Given the description of an element on the screen output the (x, y) to click on. 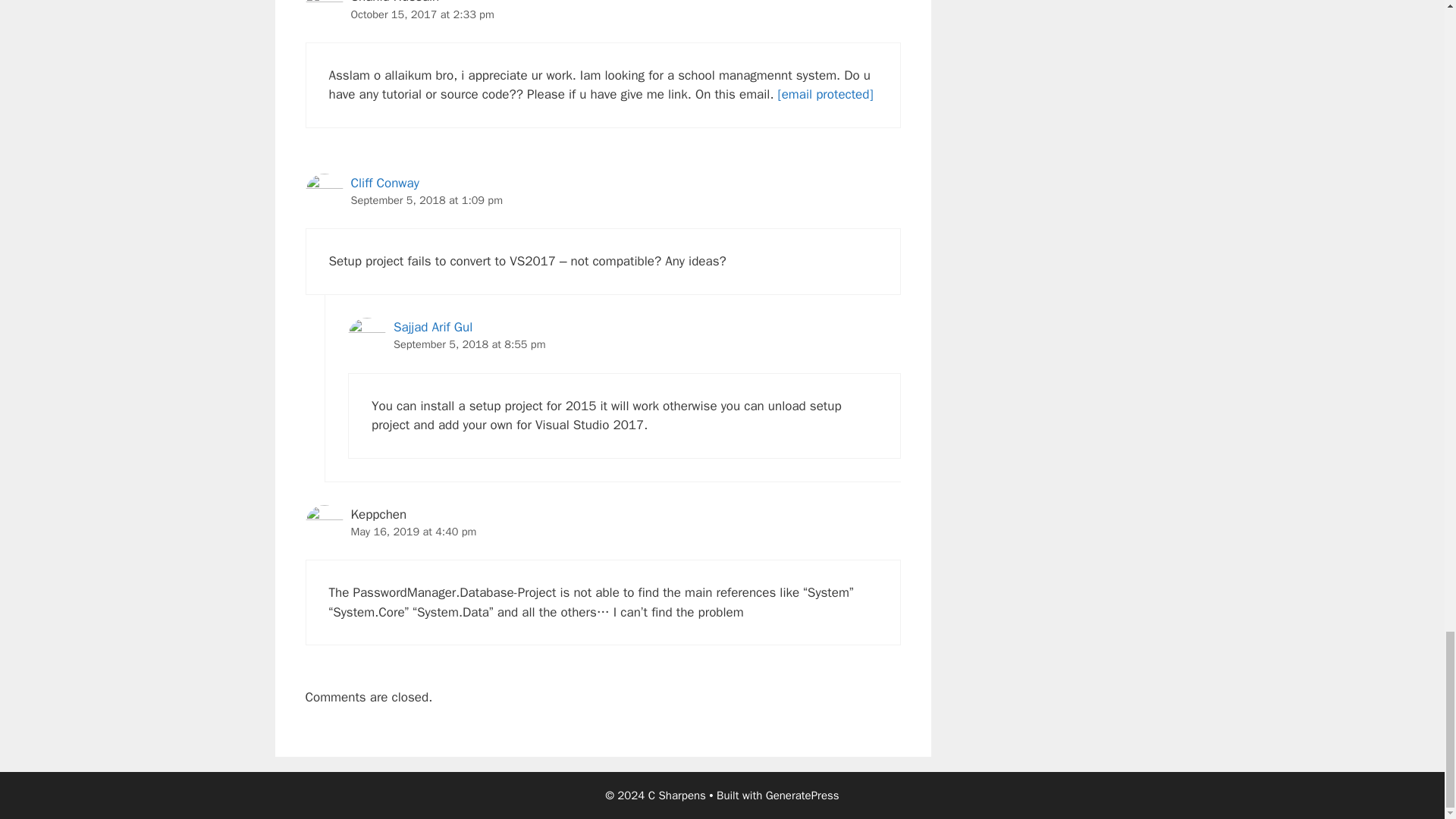
October 15, 2017 at 2:33 pm (421, 14)
